Given the description of an element on the screen output the (x, y) to click on. 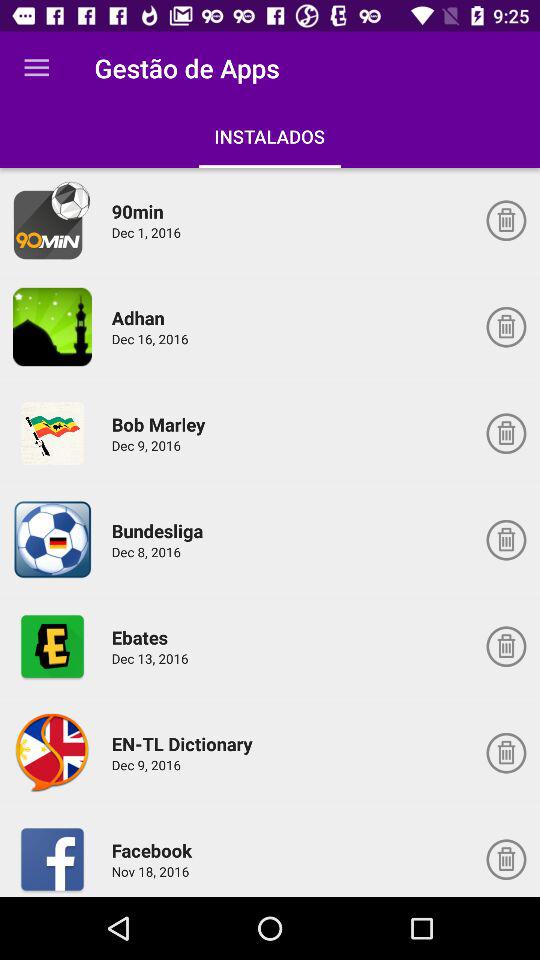
delete bundesliga (505, 540)
